Given the description of an element on the screen output the (x, y) to click on. 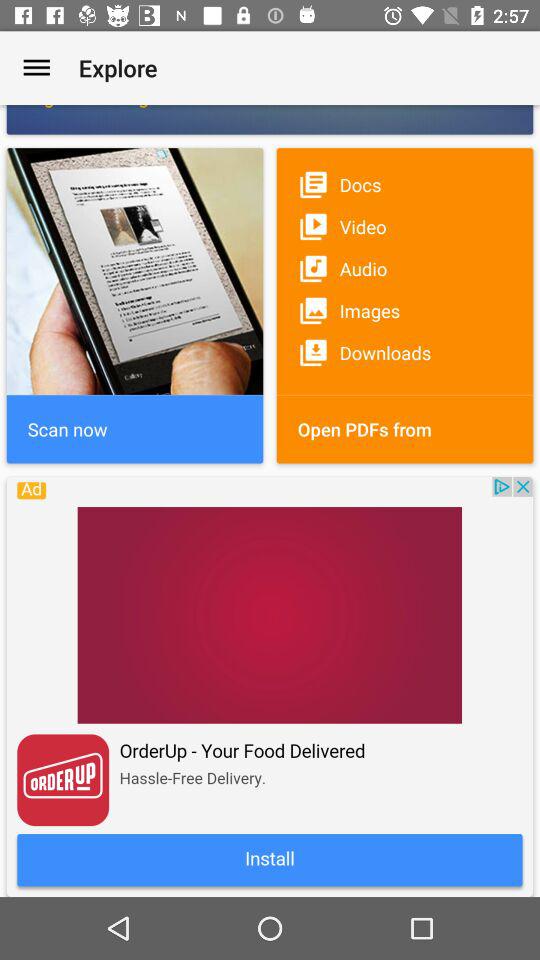
select the option video on page (404, 226)
select the image which is at the top left of the page (134, 305)
go to open pdfs form (404, 428)
click on the image option (404, 310)
